Given the description of an element on the screen output the (x, y) to click on. 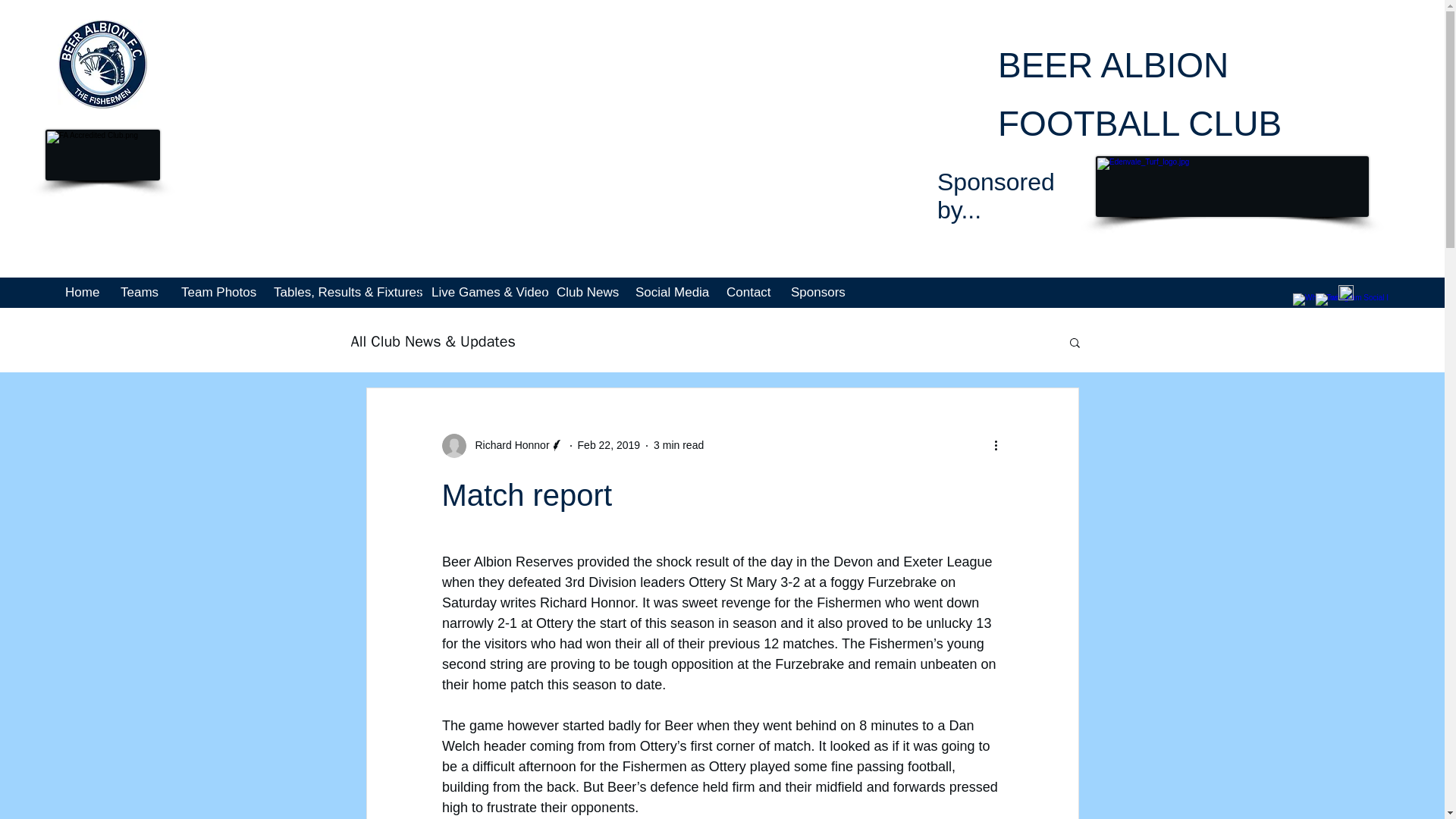
3 min read (678, 444)
Contact (746, 292)
Home (80, 292)
Teams (137, 292)
Feb 22, 2019 (609, 444)
Sponsors (815, 292)
Club News (583, 292)
Team Photos (215, 292)
Social Media (668, 292)
BEER ALBION FOOTBALL CLUB (1139, 94)
